Given the description of an element on the screen output the (x, y) to click on. 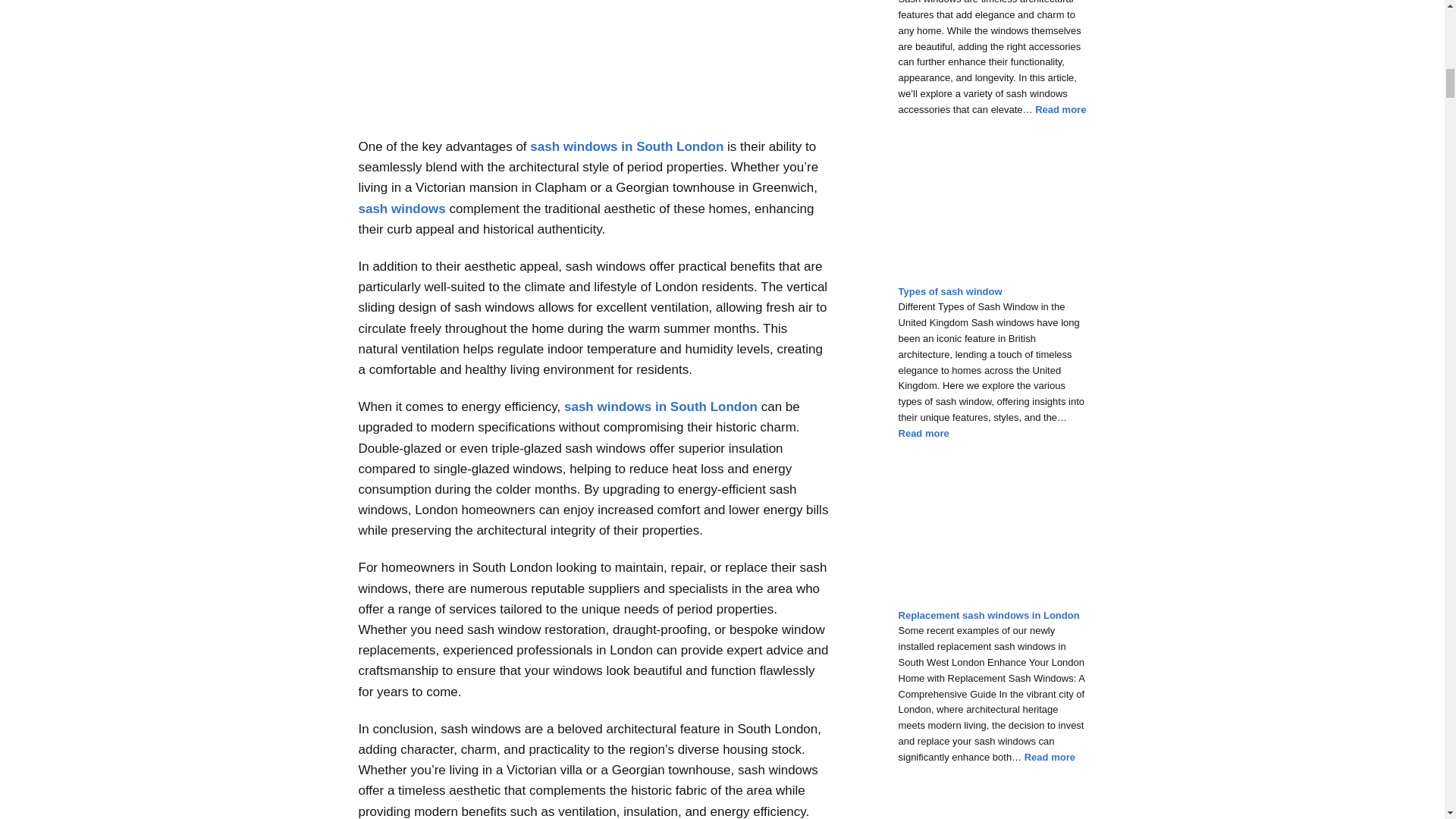
sash windows (401, 208)
